Given the description of an element on the screen output the (x, y) to click on. 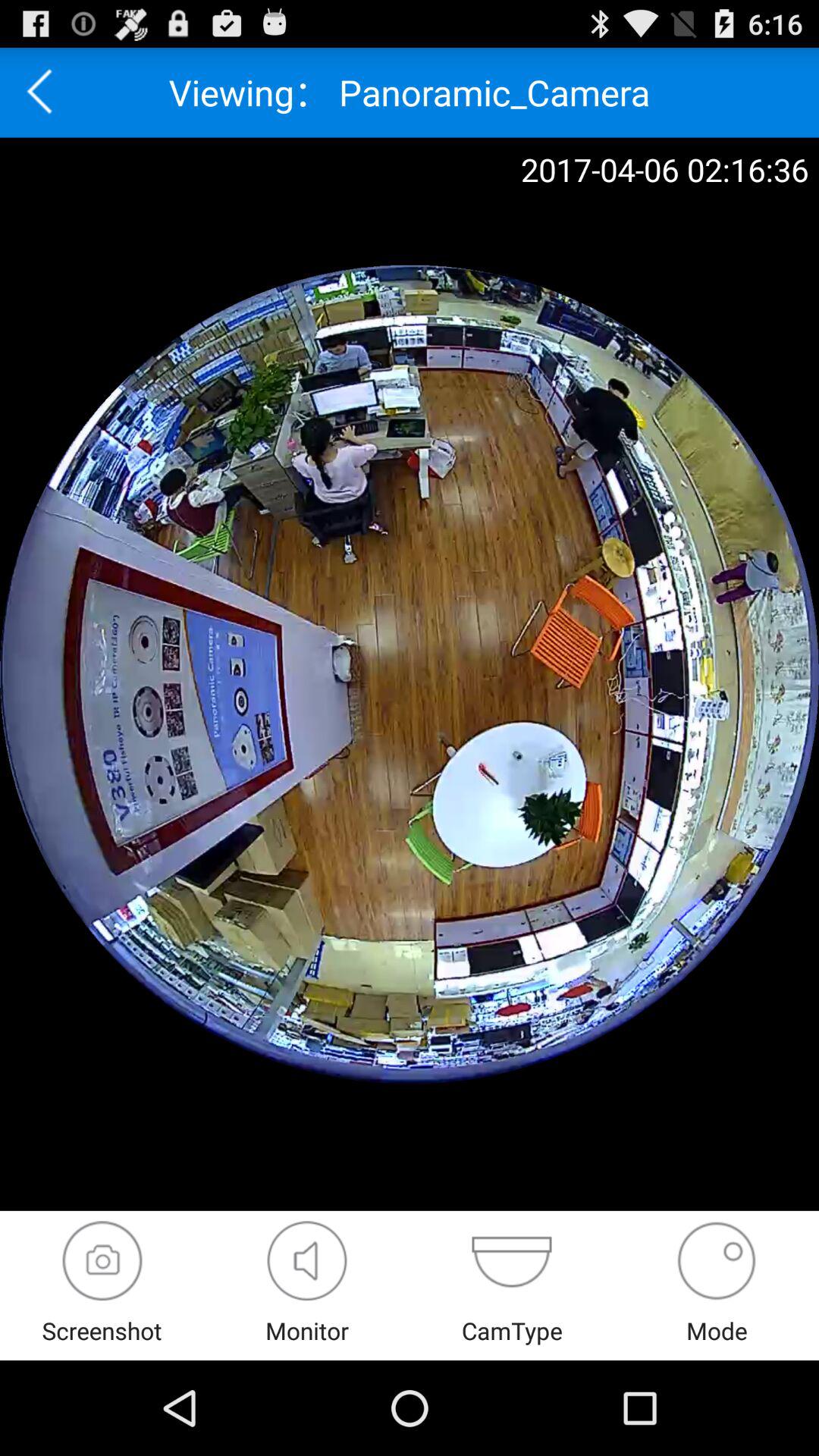
take screenshot (102, 1260)
